Given the description of an element on the screen output the (x, y) to click on. 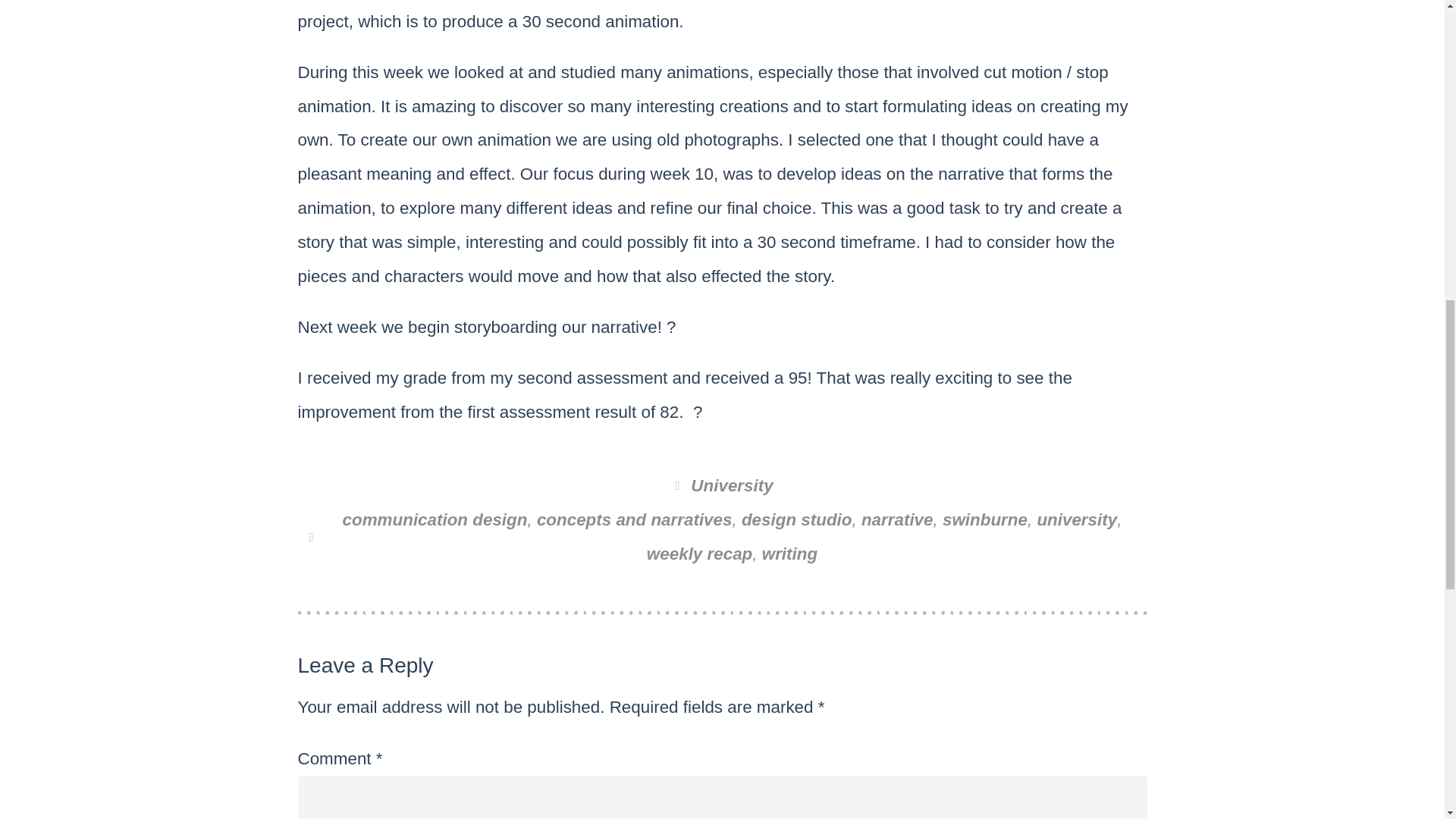
swinburne (984, 519)
narrative (897, 519)
weekly recap (699, 553)
communication design (434, 519)
university (1076, 519)
University (731, 485)
design studio (796, 519)
writing (788, 553)
concepts and narratives (634, 519)
